Given the description of an element on the screen output the (x, y) to click on. 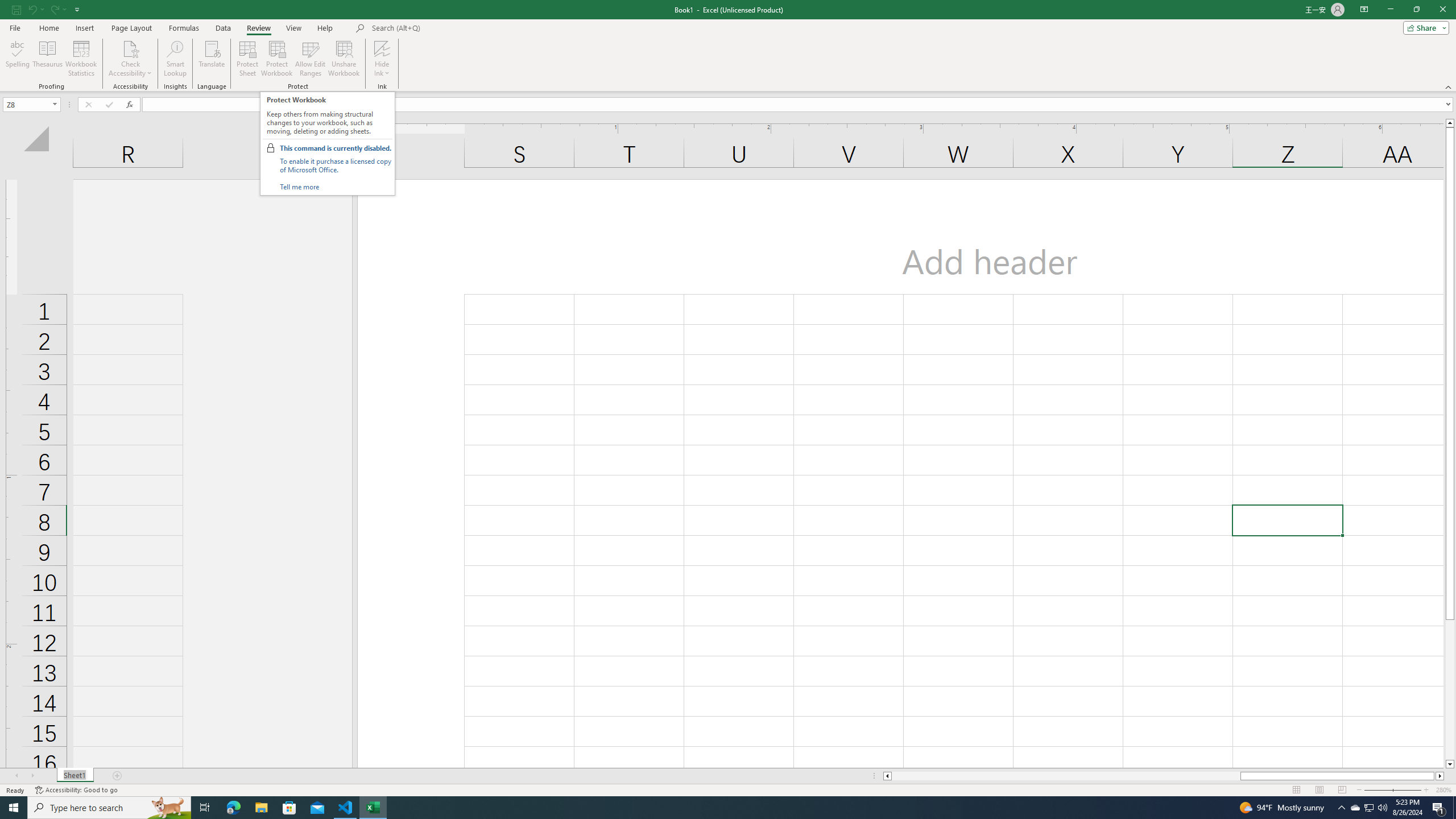
Spelling... (17, 58)
Workbook Statistics (81, 58)
